Given the description of an element on the screen output the (x, y) to click on. 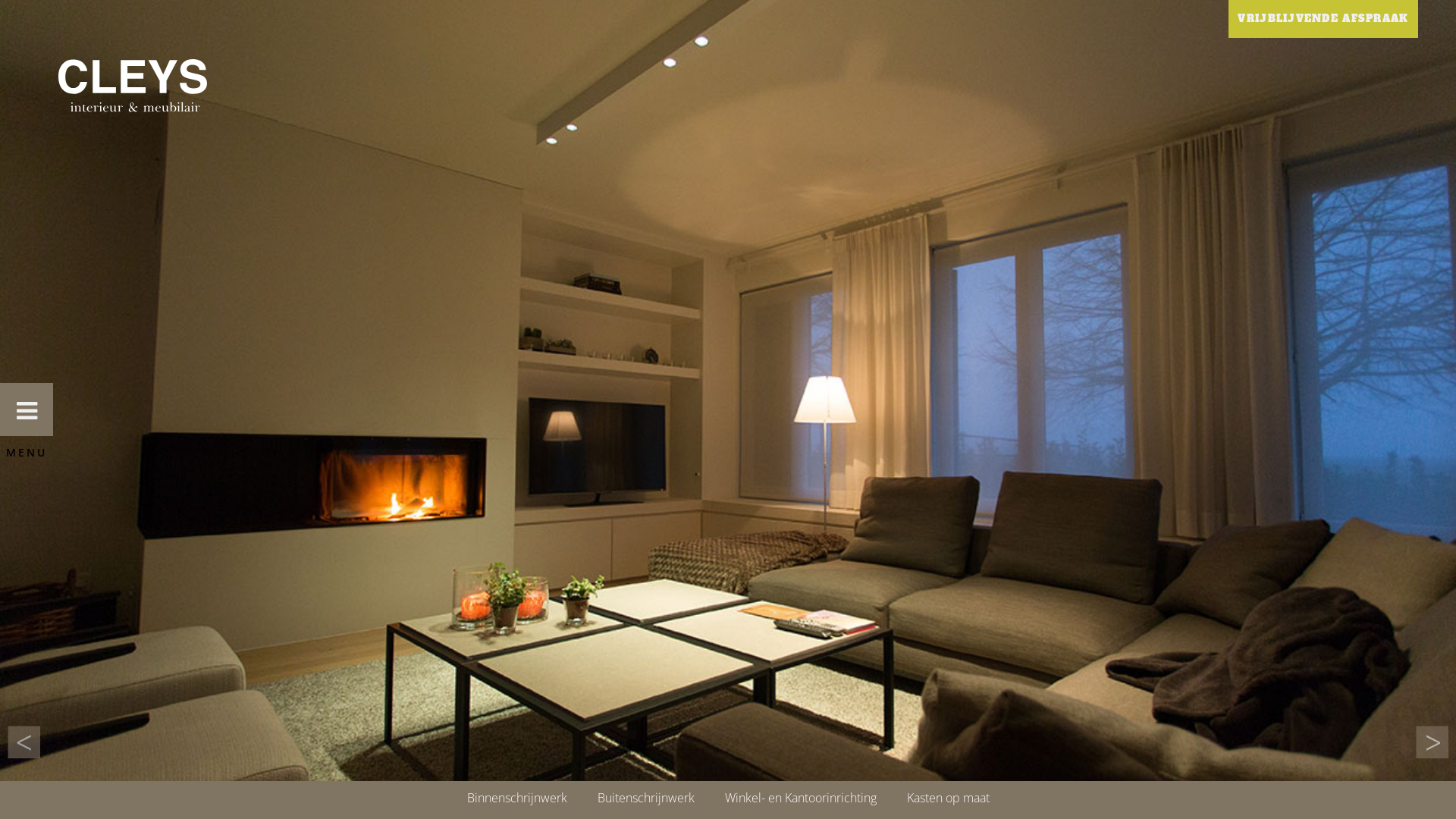
Kasten op maat Element type: text (947, 797)
Binnenschrijnwerk Element type: text (516, 797)
Buitenschrijnwerk Element type: text (645, 797)
Winkel- en Kantoorinrichting Element type: text (800, 797)
VRIJBLIJVENDE AFSPRAAK Element type: text (1323, 18)
